Given the description of an element on the screen output the (x, y) to click on. 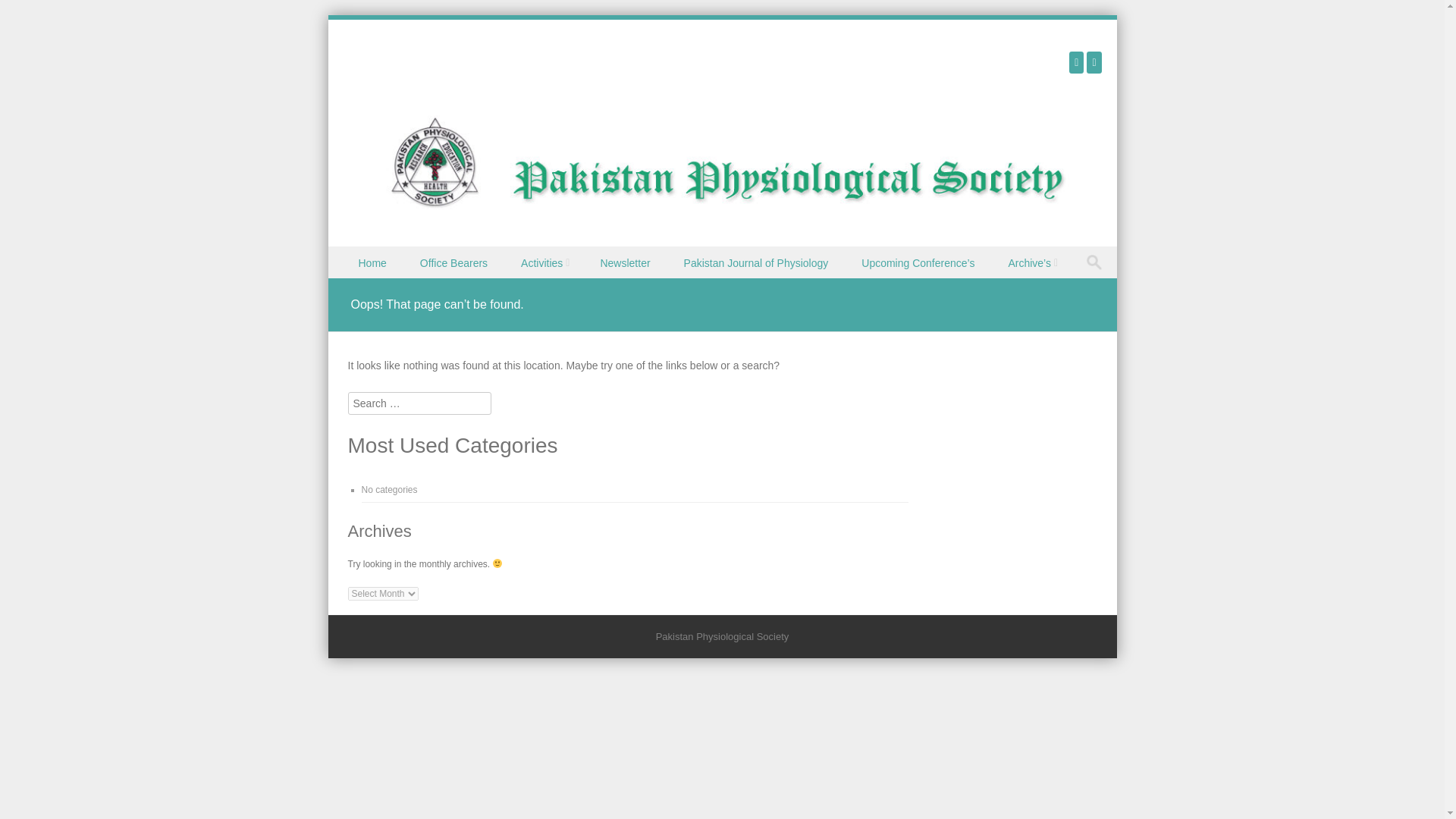
Skip to content (362, 256)
Home (373, 262)
Search for: (1097, 261)
Activities (545, 262)
Skip to content (362, 256)
Navigation Toggle (353, 279)
Search (26, 14)
Pakistan Journal of Physiology (757, 262)
Menu (353, 279)
Pakistan Physiological Society (733, 213)
Office Bearers (454, 262)
Newsletter (626, 262)
